Given the description of an element on the screen output the (x, y) to click on. 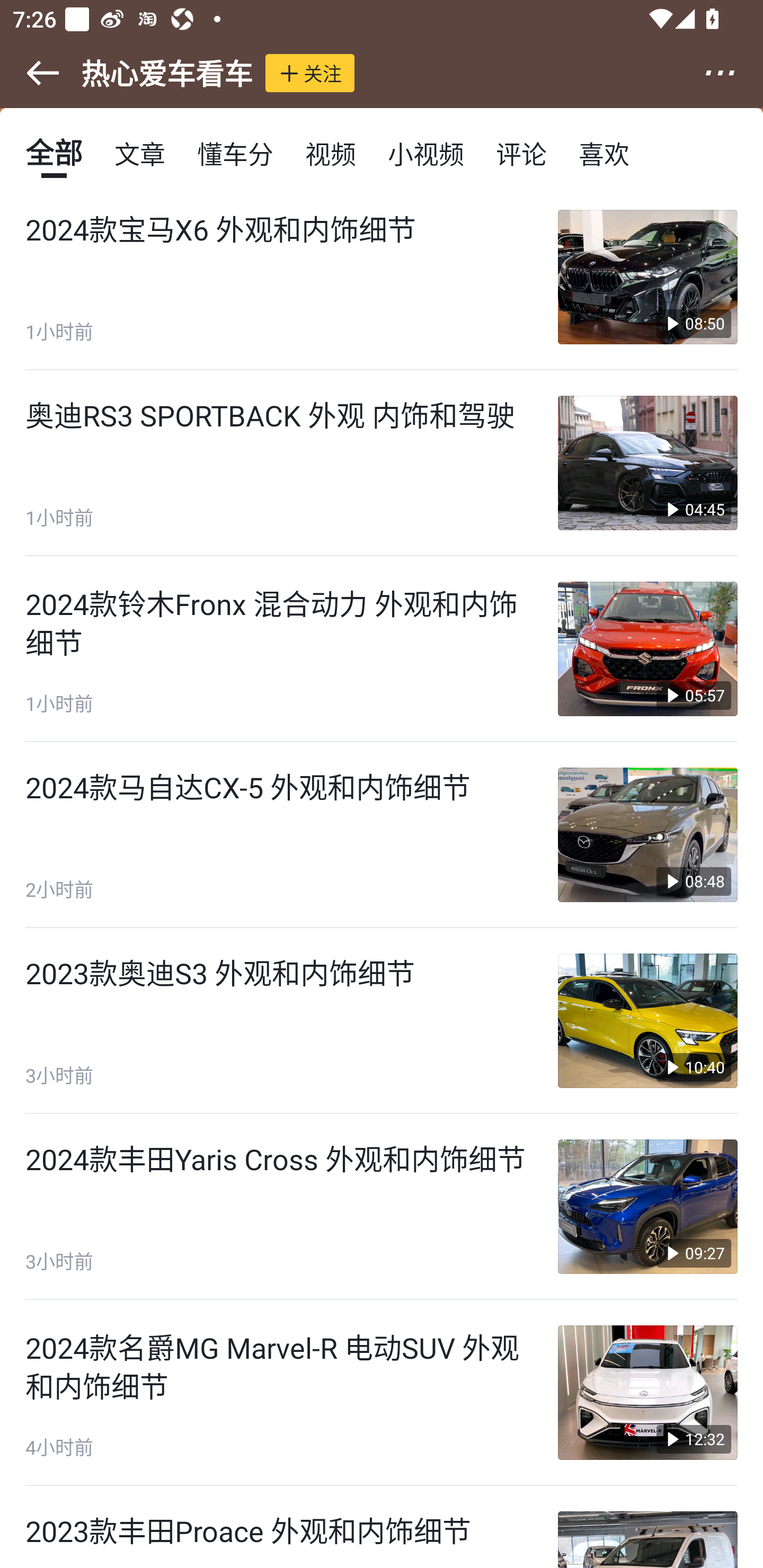
 (30, 72)
 (732, 72)
 关注 (309, 72)
全部 (53, 152)
文章 (139, 152)
懂车分 (234, 152)
视频 (330, 152)
小视频 (425, 152)
评论 (521, 152)
喜欢 (603, 152)
2024款宝马X6 外观和内饰细节 1小时前  08:50 (381, 277)
奥迪RS3 SPORTBACK 外观 内饰和驾驶 1小时前  04:45 (381, 463)
2024款铃木Fronx 混合动力 外观和内饰细节 1小时前  05:57 (381, 648)
2024款马自达CX-5 外观和内饰细节 2小时前  08:48 (381, 834)
2023款奥迪S3 外观和内饰细节 3小时前  10:40 (381, 1020)
2024款丰田Yaris Cross 外观和内饰细节 3小时前  09:27 (381, 1206)
2024款名爵MG Marvel-R 电动SUV 外观和内饰细节 4小时前  12:32 (381, 1392)
2023款丰田Proace 外观和内饰细节 (381, 1527)
